Given the description of an element on the screen output the (x, y) to click on. 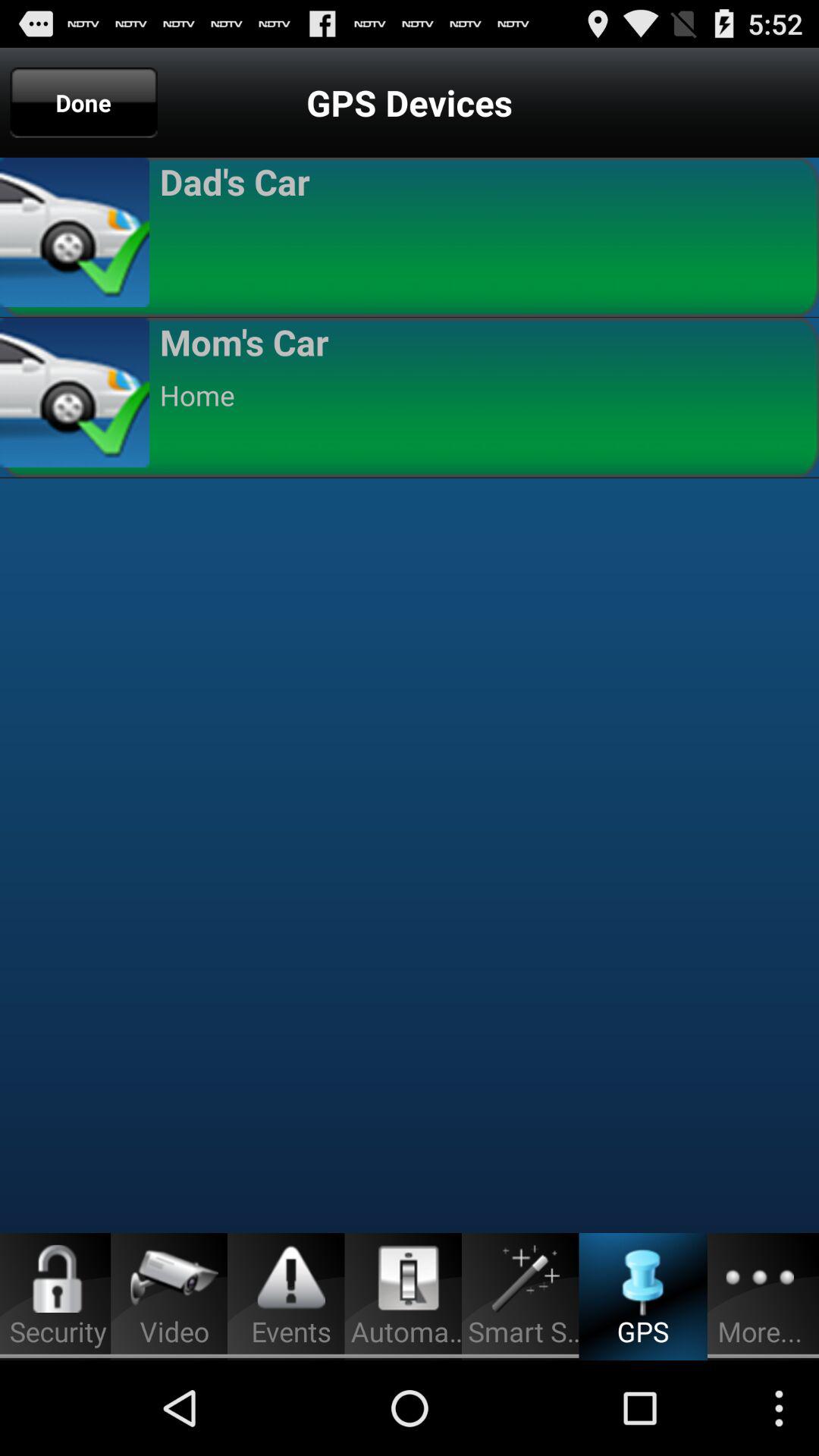
tap the item below the dad's car app (481, 234)
